Given the description of an element on the screen output the (x, y) to click on. 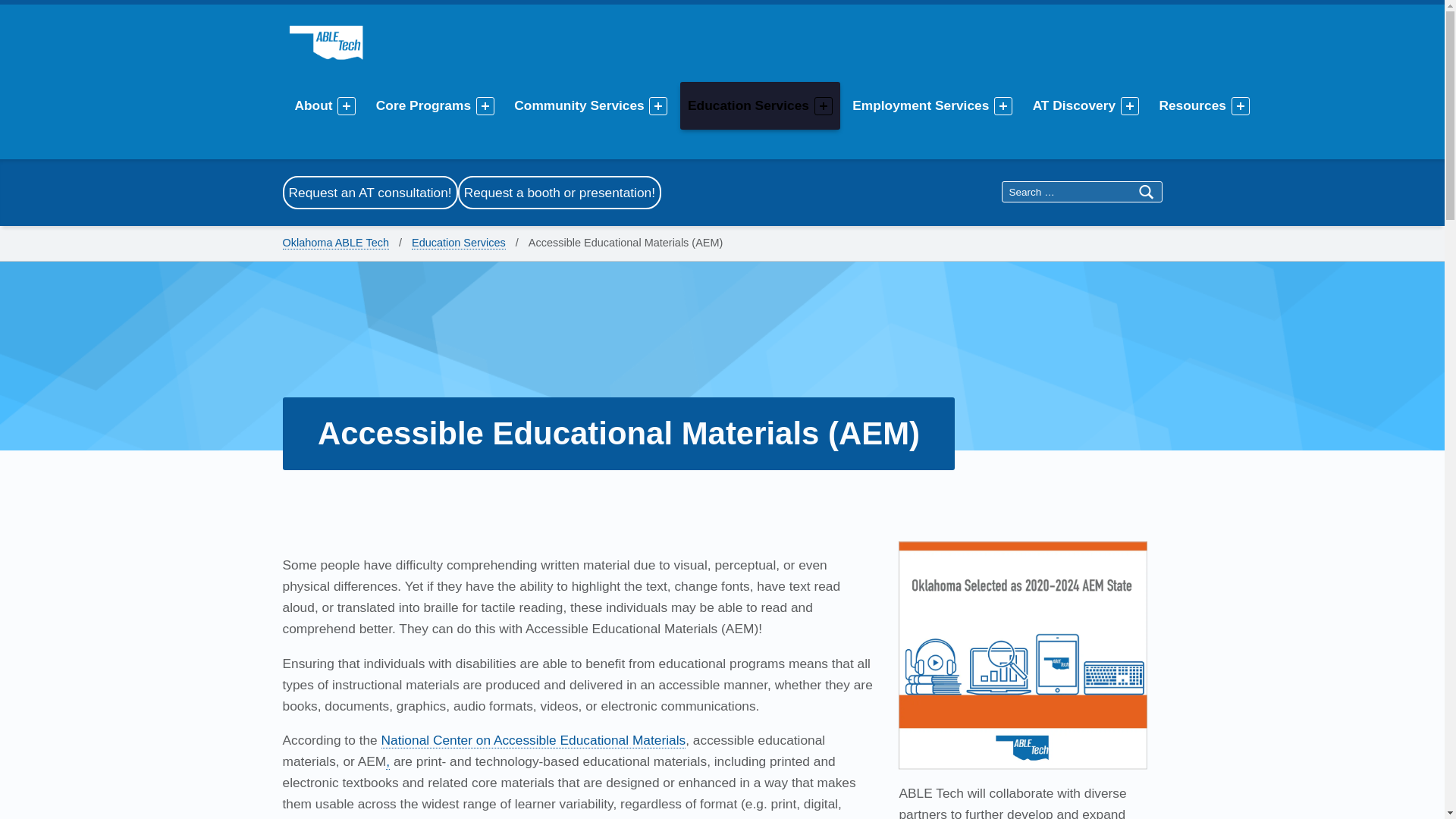
Employment Services (922, 105)
Community Services (581, 105)
About (315, 105)
Core Programs (425, 105)
Education Services (750, 105)
AT Discovery (1076, 105)
